Given the description of an element on the screen output the (x, y) to click on. 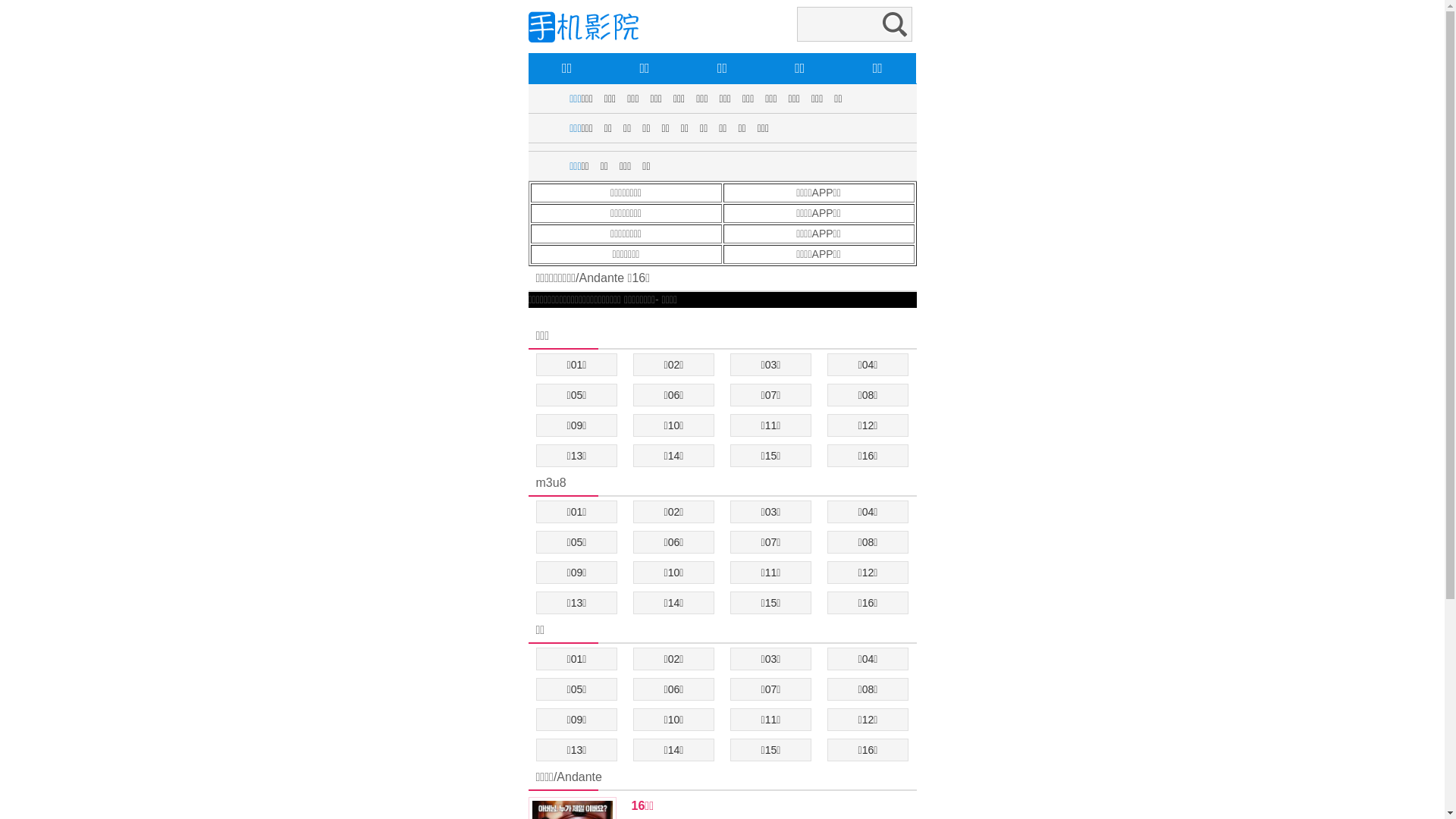
  Element type: text (528, 315)
